Given the description of an element on the screen output the (x, y) to click on. 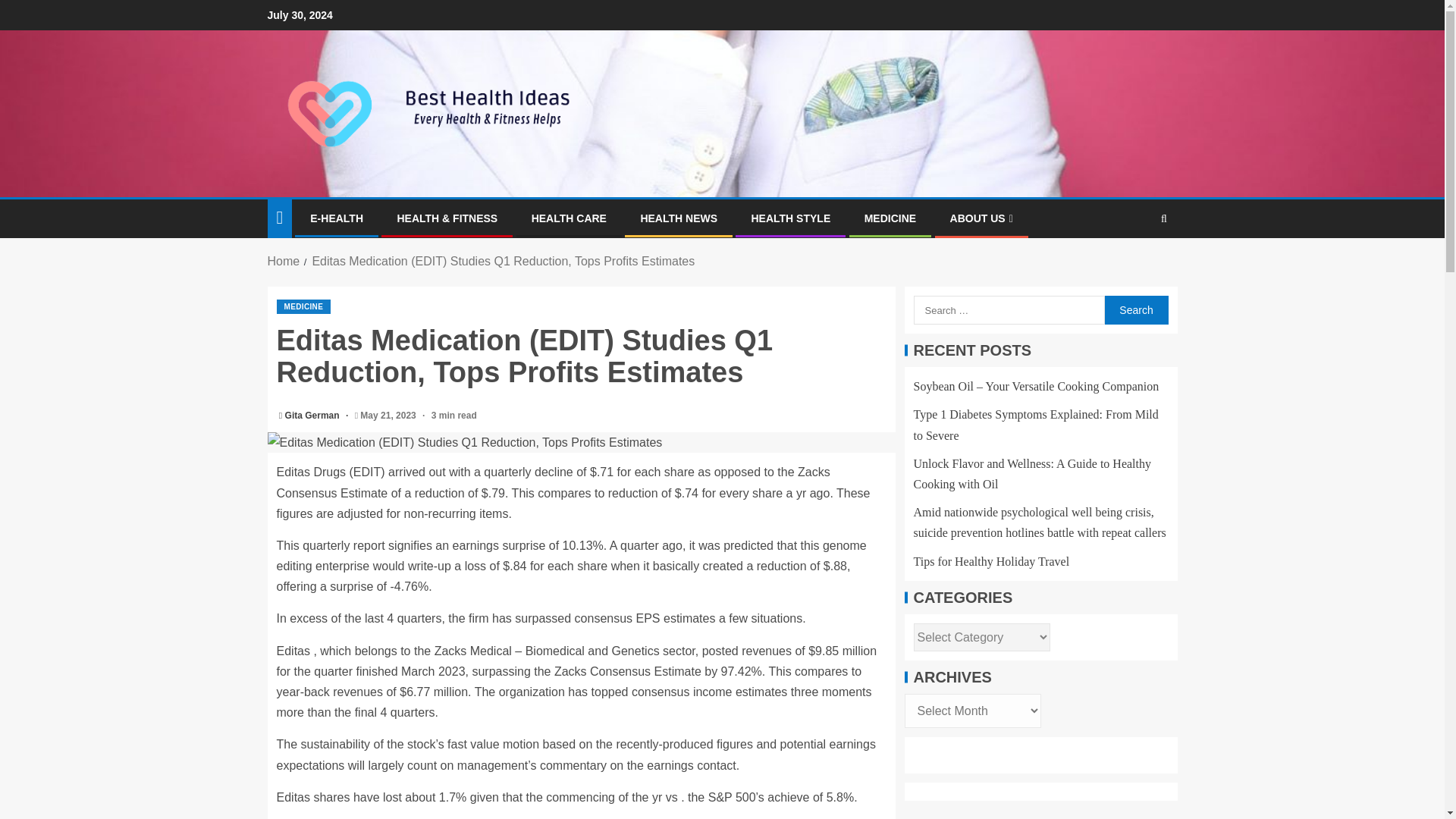
Search (1135, 309)
MEDICINE (303, 306)
HEALTH NEWS (678, 218)
Search (1135, 309)
MEDICINE (889, 218)
Gita German (313, 415)
HEALTH CARE (569, 218)
Home (282, 260)
HEALTH STYLE (790, 218)
Search (1133, 265)
E-HEALTH (336, 218)
ABOUT US (981, 218)
